Given the description of an element on the screen output the (x, y) to click on. 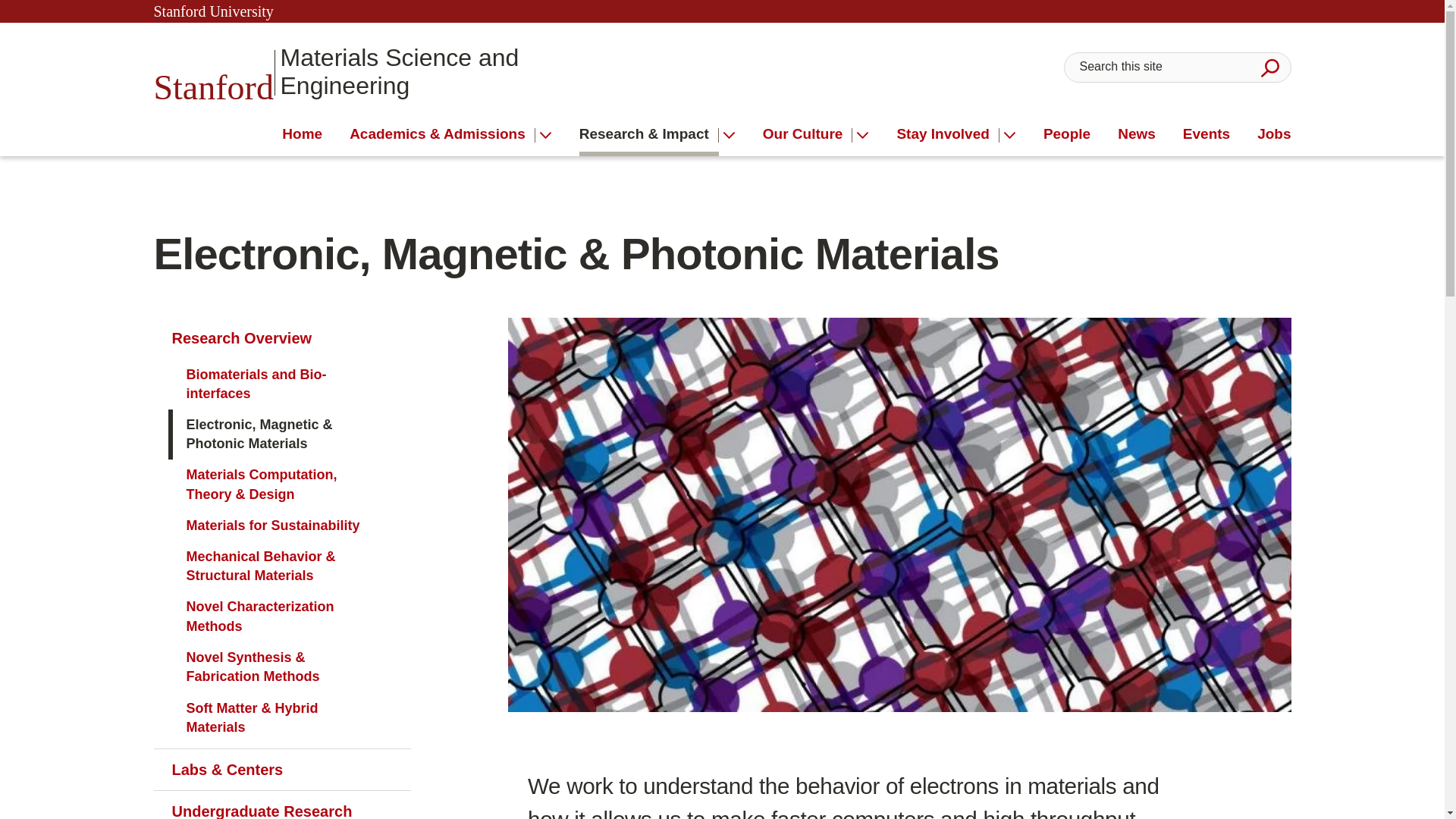
Home (301, 134)
Submit Search (1269, 67)
A listing of people types (1066, 134)
Link to MSE Events (1206, 134)
